Given the description of an element on the screen output the (x, y) to click on. 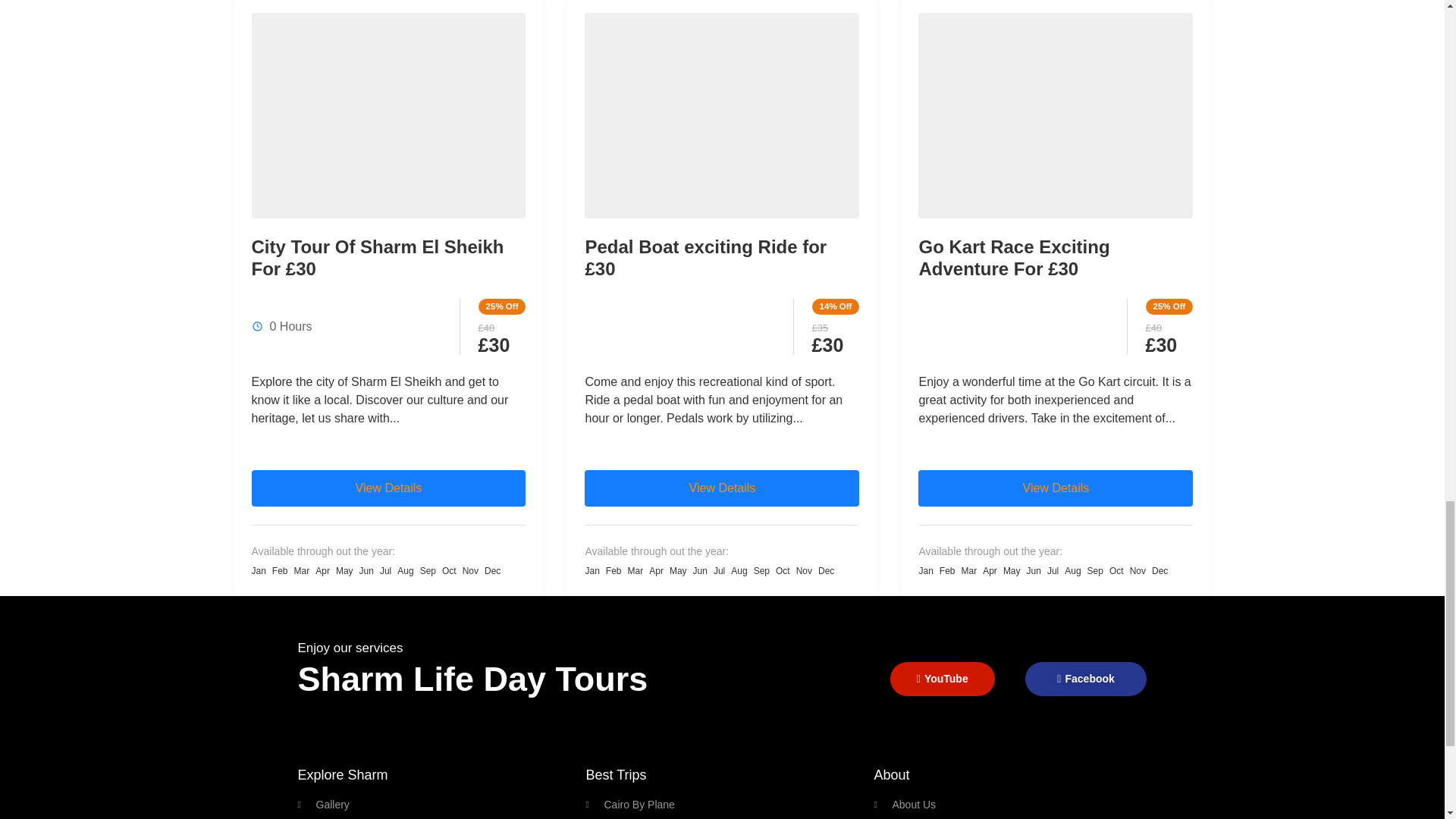
Pedal Boat 01 - Sharm Life (722, 115)
Go Kart 01 - Sharm Life (1055, 115)
Sahaba Mosque 2 - Sharm Life (388, 115)
